Given the description of an element on the screen output the (x, y) to click on. 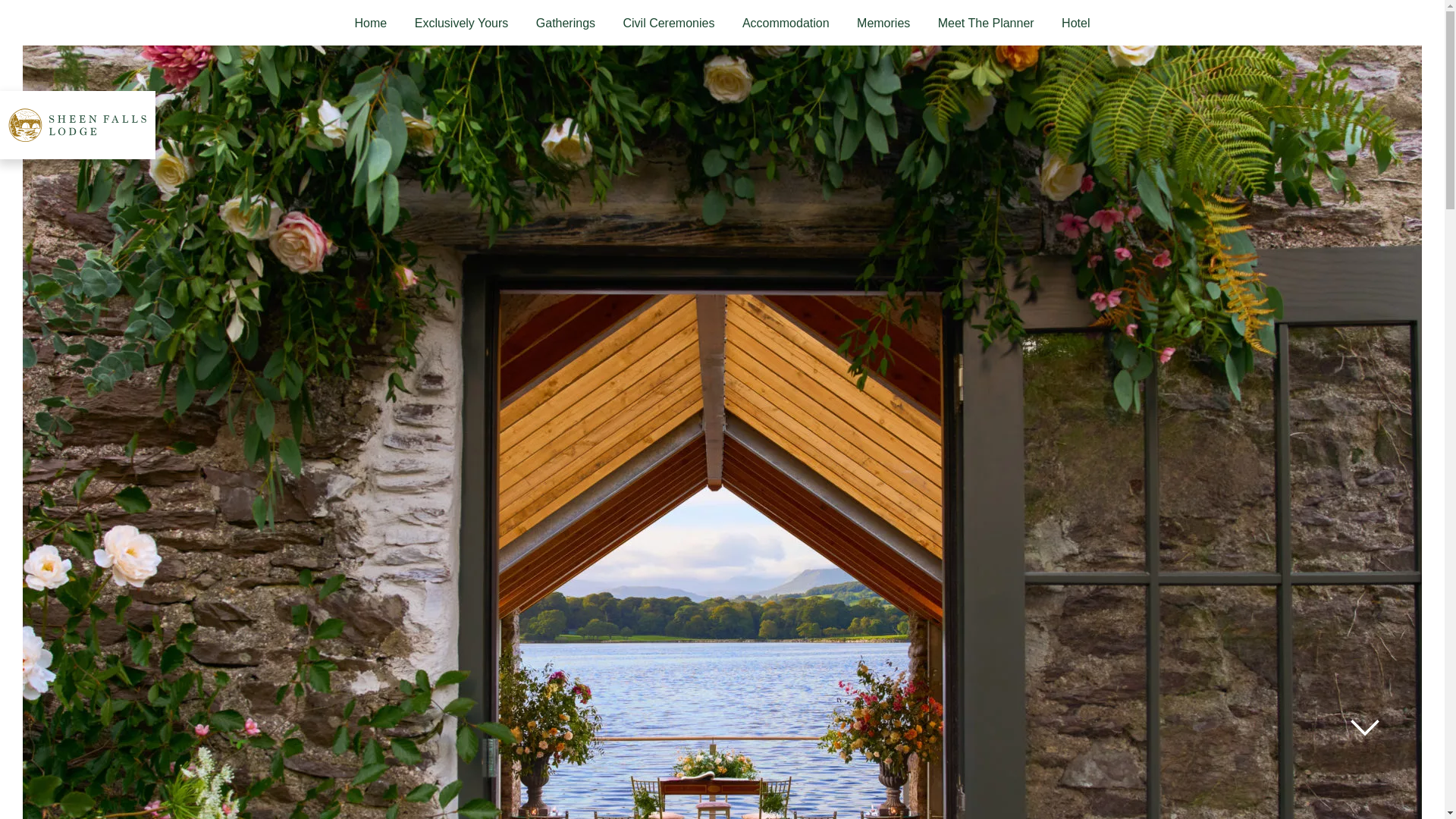
Meet The Planner (986, 22)
Accommodation (785, 22)
Home (371, 22)
Civil Ceremonies (668, 22)
Exclusively Yours (461, 22)
here (675, 2)
Hotel (1074, 22)
Memories (883, 22)
Gatherings (565, 22)
